Given the description of an element on the screen output the (x, y) to click on. 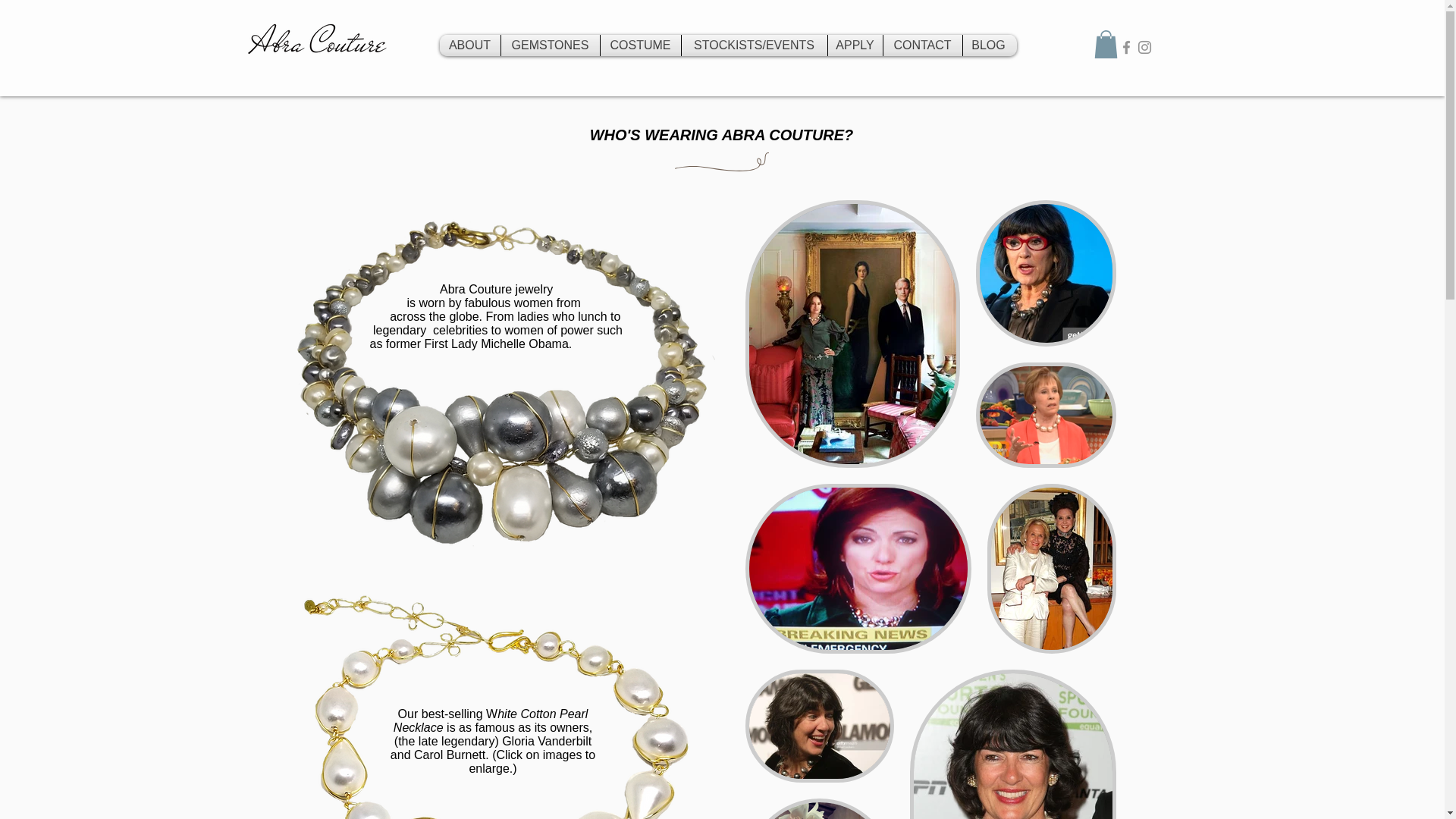
CONTACT (921, 45)
COSTUME (640, 45)
BLOG (988, 45)
GEMSTONES (549, 45)
ABOUT (469, 45)
APPLY (855, 45)
